Given the description of an element on the screen output the (x, y) to click on. 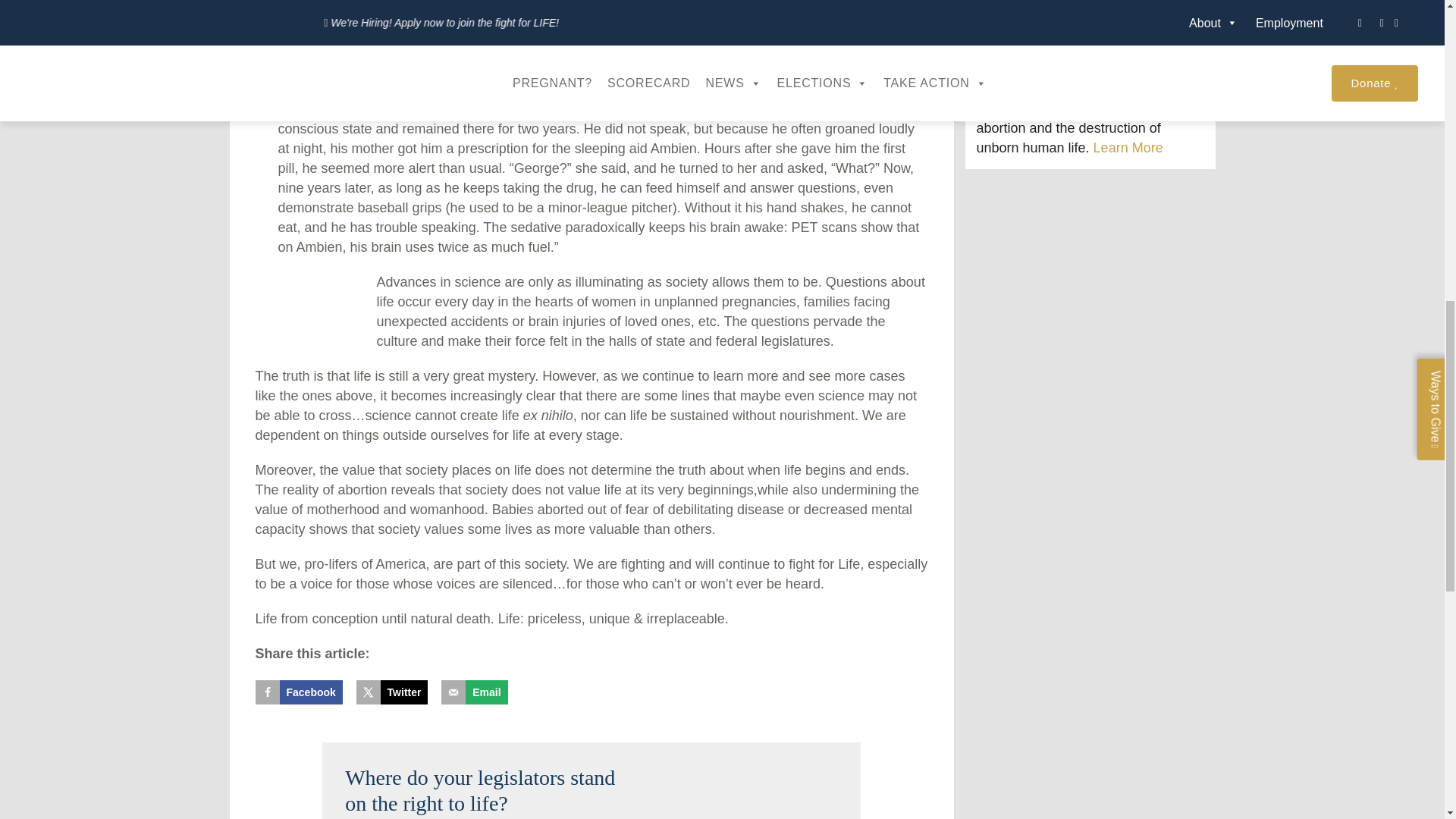
Send over email (473, 692)
Share on X (392, 692)
Share on Facebook (298, 692)
